Given the description of an element on the screen output the (x, y) to click on. 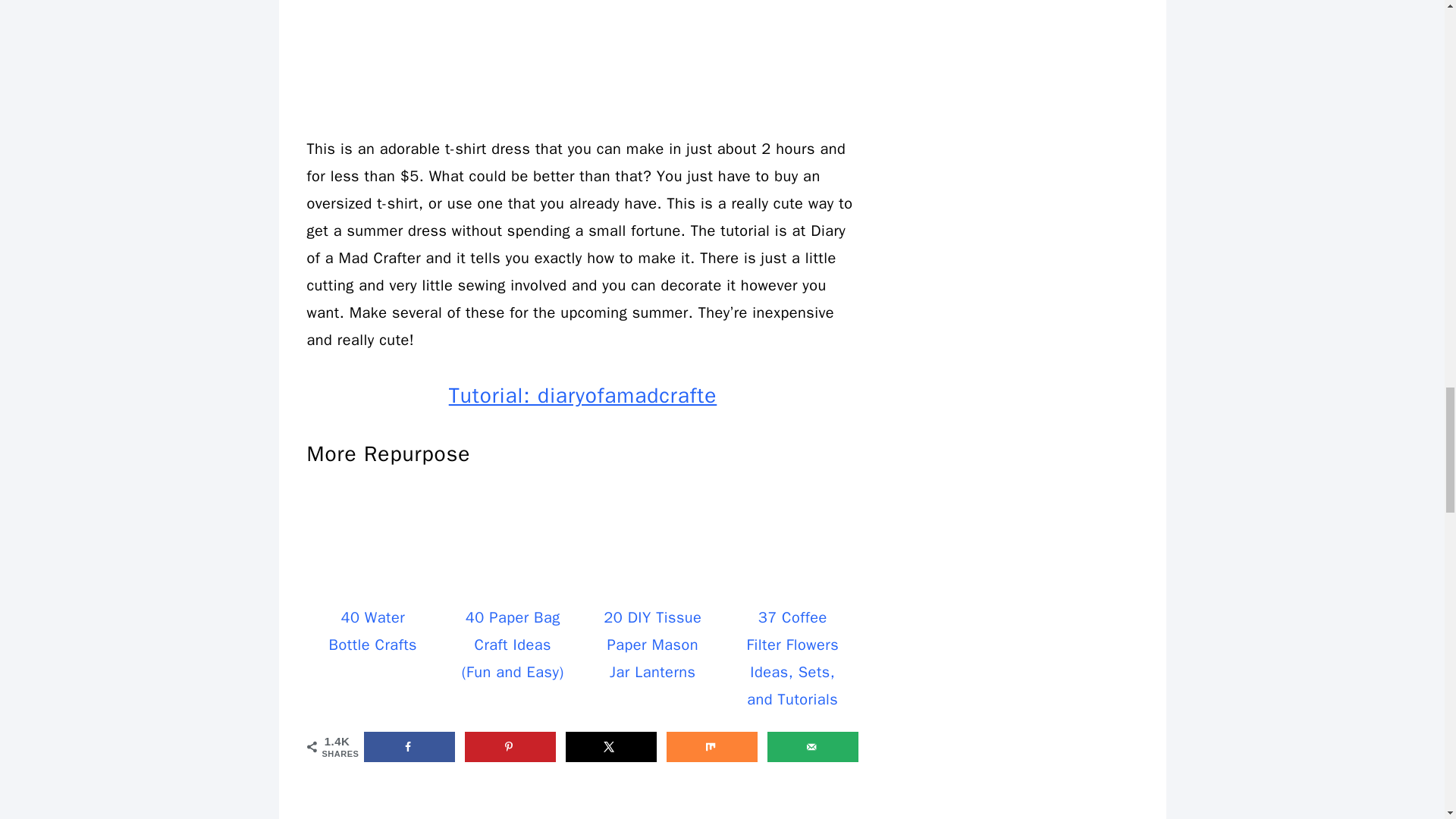
Share on Mix (711, 747)
Share on Facebook (409, 747)
Save to Pinterest (510, 747)
Send over email (813, 747)
Share on X (611, 747)
